Given the description of an element on the screen output the (x, y) to click on. 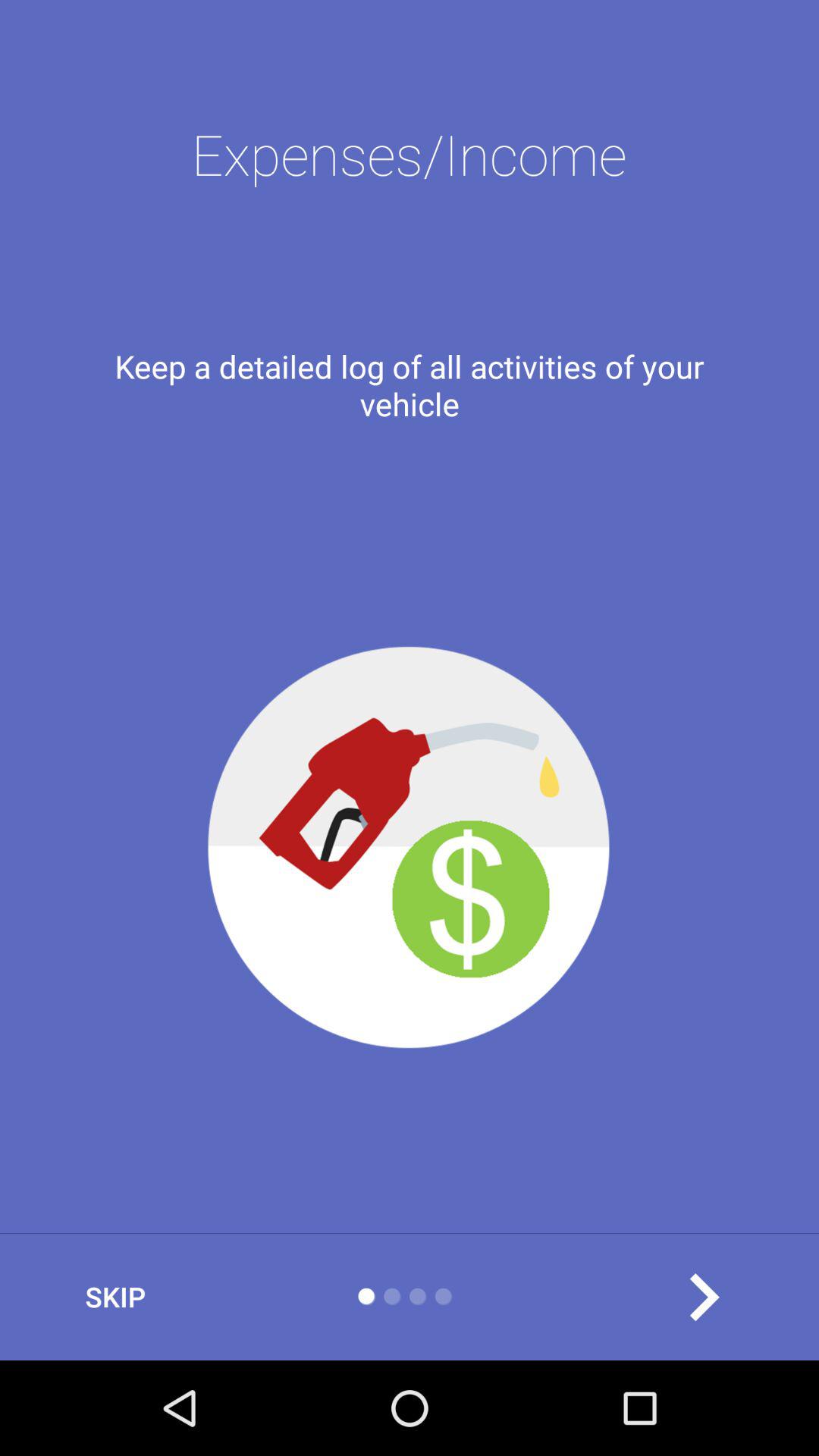
go to next (703, 1296)
